Given the description of an element on the screen output the (x, y) to click on. 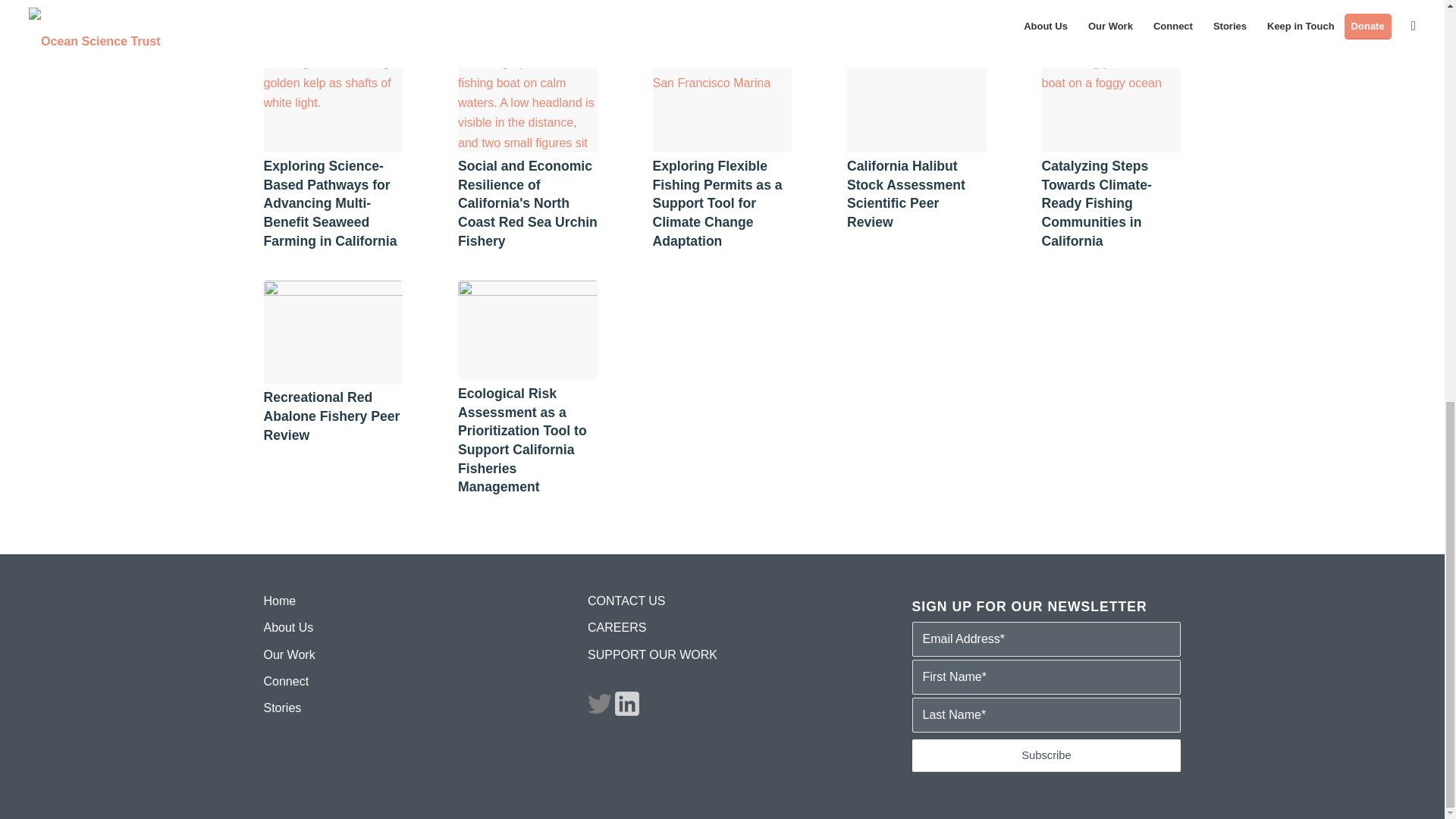
California Halibut Stock Assessment Scientific Peer Review (906, 194)
California Halibut Stock Assessment Scientific Peer Review (906, 194)
